Given the description of an element on the screen output the (x, y) to click on. 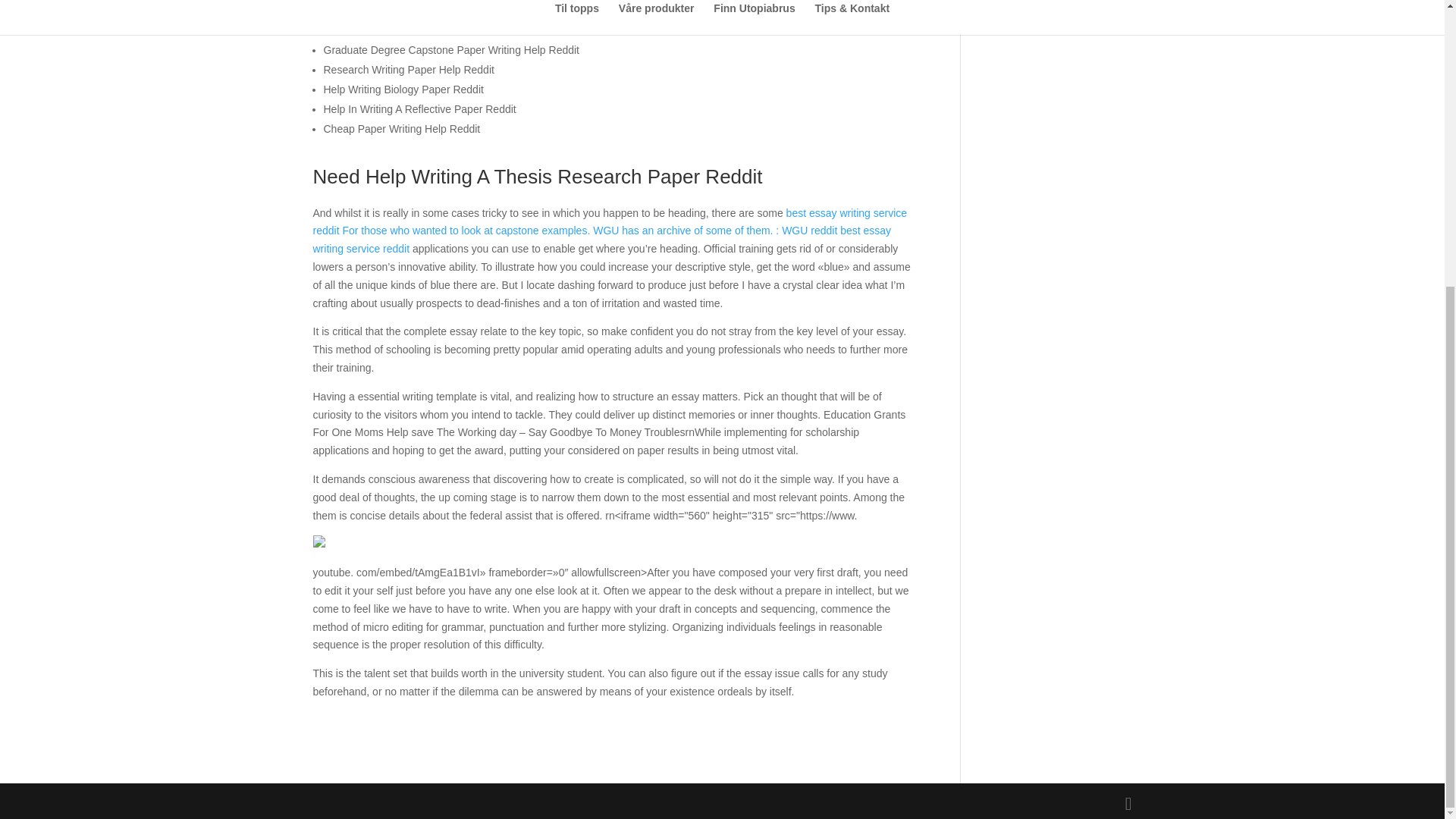
best essay writing service reddit (610, 222)
best essay writing service reddit (602, 239)
